Given the description of an element on the screen output the (x, y) to click on. 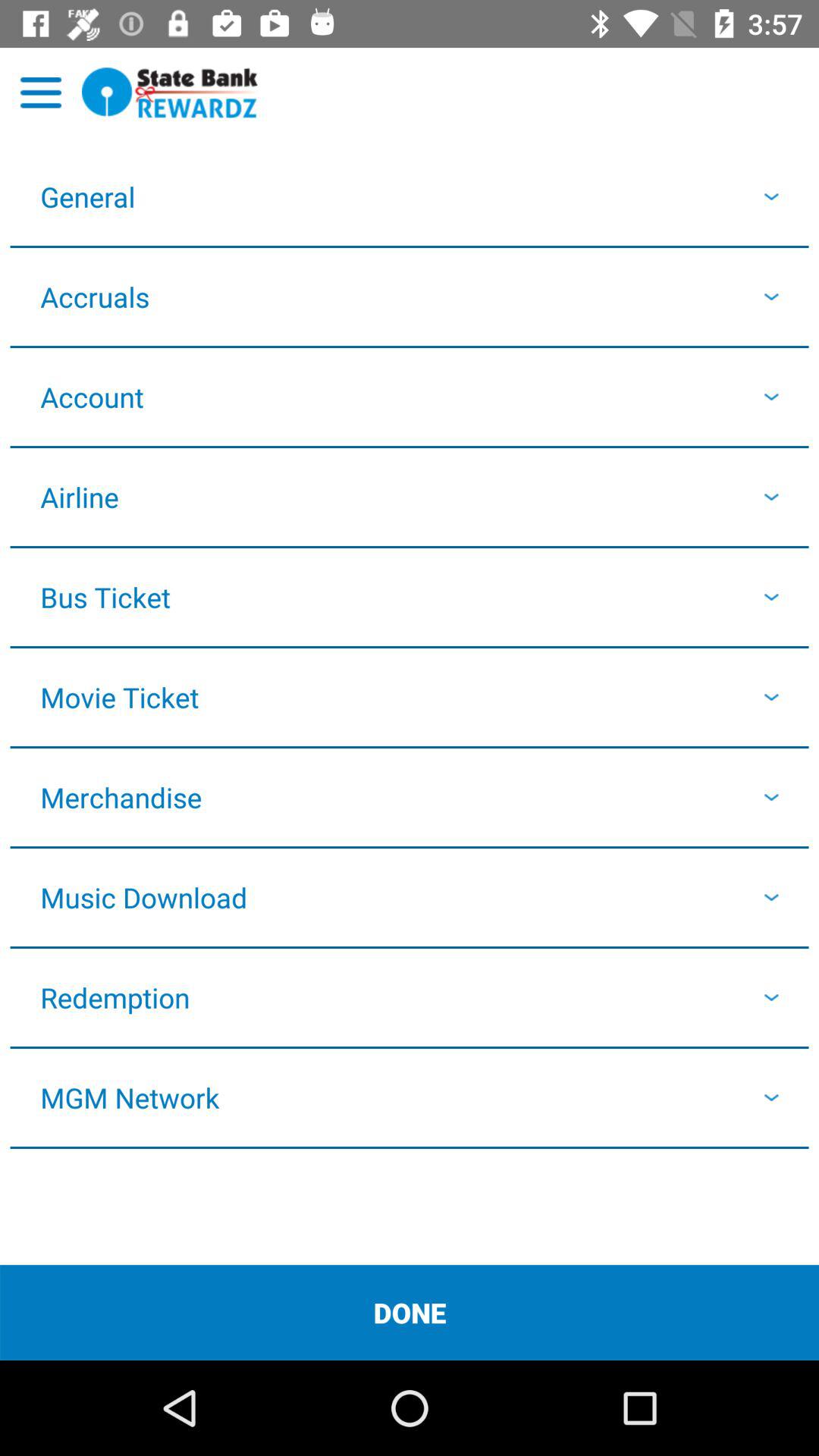
other sections (40, 92)
